Given the description of an element on the screen output the (x, y) to click on. 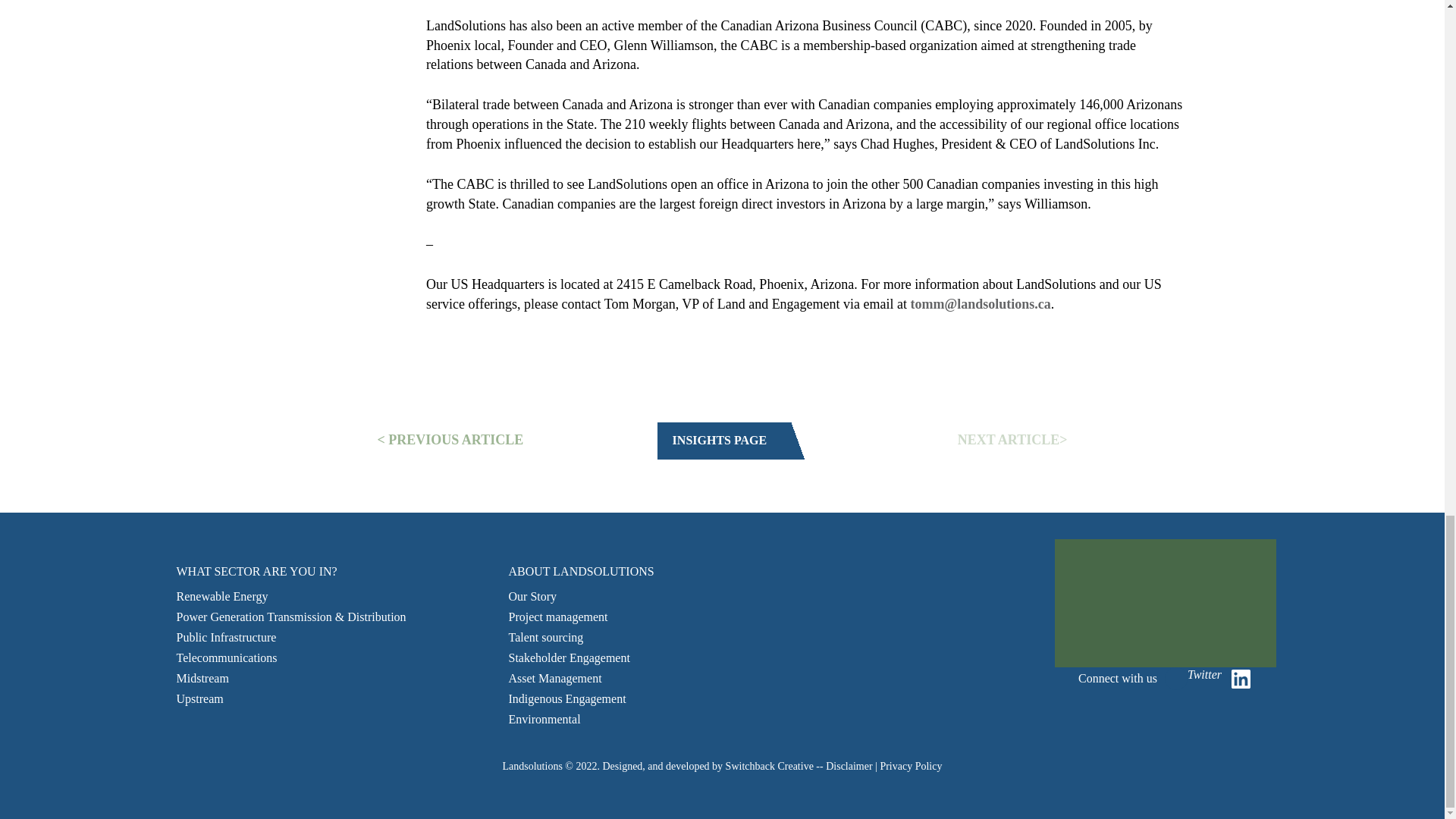
Follow us on Twitter - Link will open in new window (1176, 678)
Follow us on Linkedin - Link will open in new window (1240, 678)
